Given the description of an element on the screen output the (x, y) to click on. 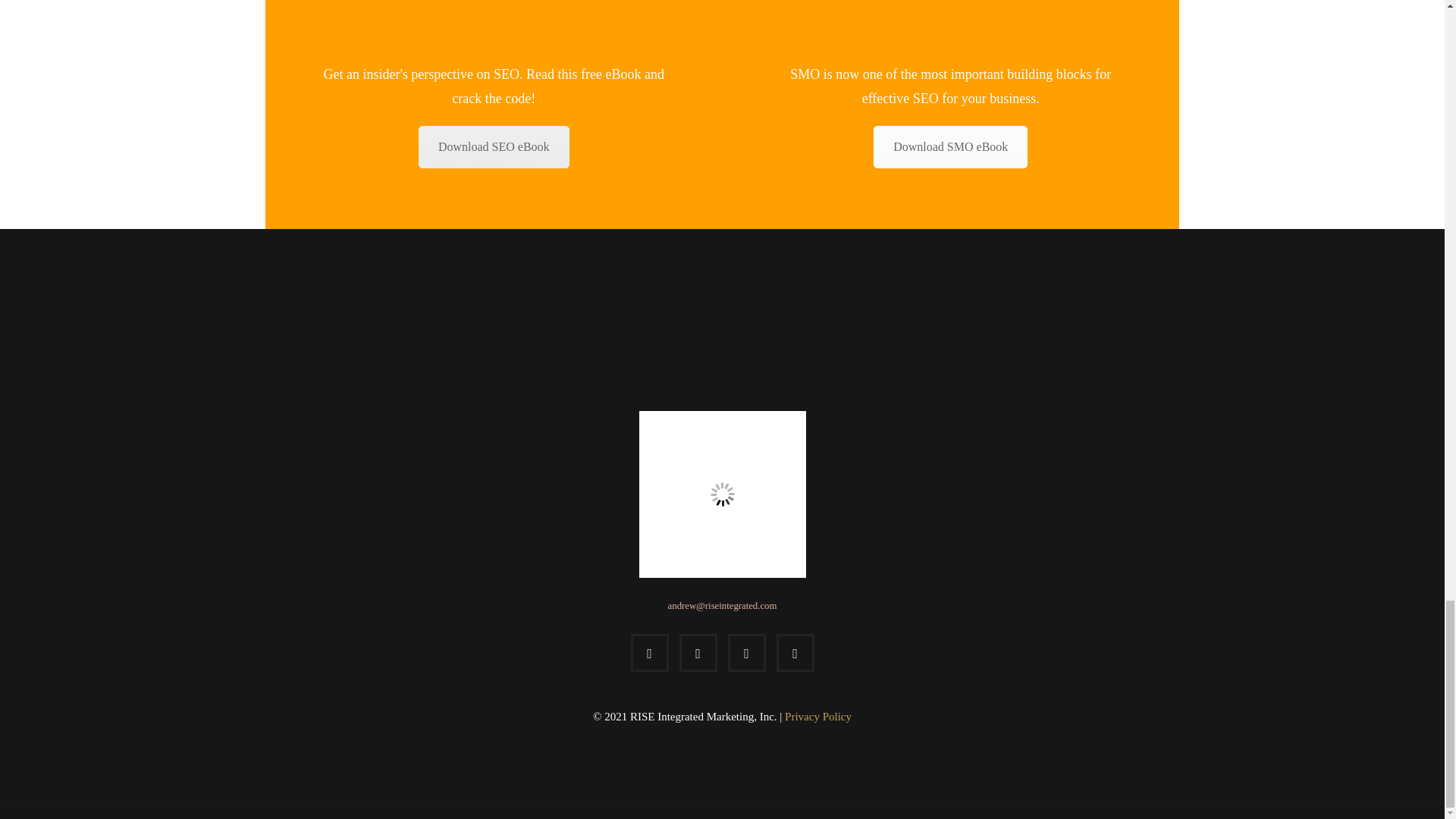
Download SEO eBook (494, 147)
SMO eBook (950, 147)
Download SMO eBook (950, 147)
eBook (494, 147)
